Given the description of an element on the screen output the (x, y) to click on. 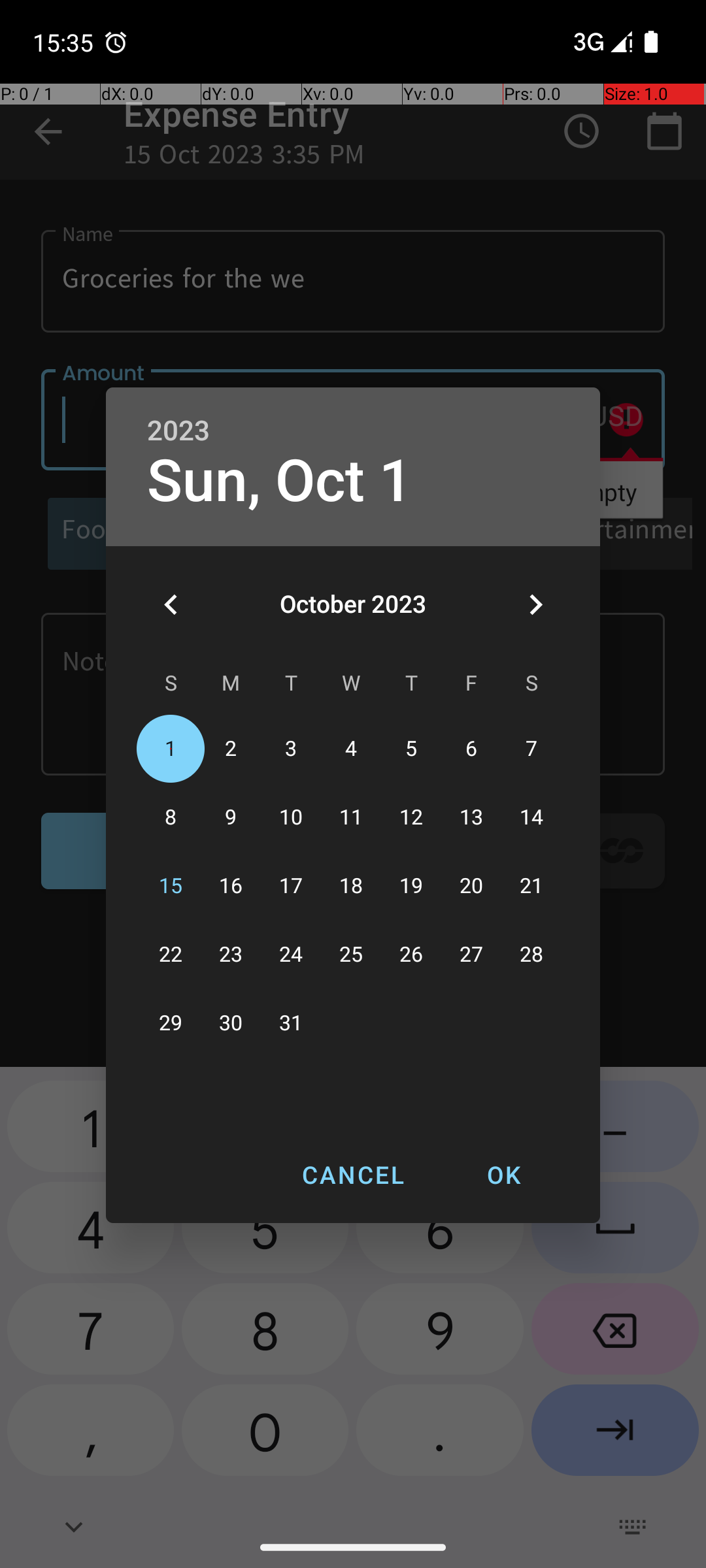
Sun, Oct 1 Element type: android.widget.TextView (279, 480)
